Given the description of an element on the screen output the (x, y) to click on. 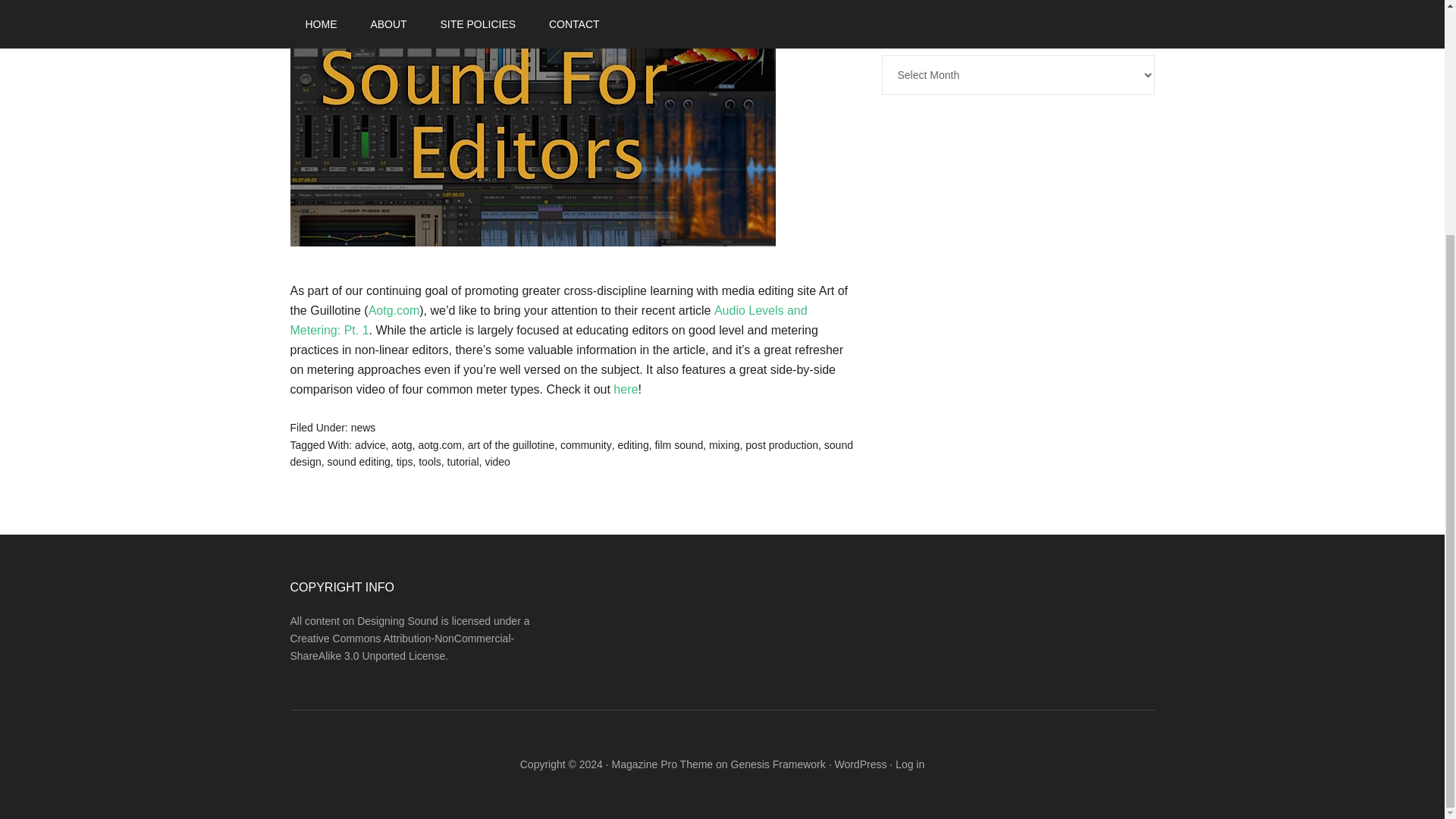
film sound (678, 444)
aotg.com (439, 444)
community (585, 444)
art of the guillotine (510, 444)
editing (632, 444)
news (362, 427)
mixing (724, 444)
post production (781, 444)
here (624, 389)
aotg (401, 444)
sound design (570, 453)
sound editing (358, 461)
Aotg.com (394, 309)
advice (370, 444)
Audio Levels and Metering: Pt. 1 (547, 319)
